Given the description of an element on the screen output the (x, y) to click on. 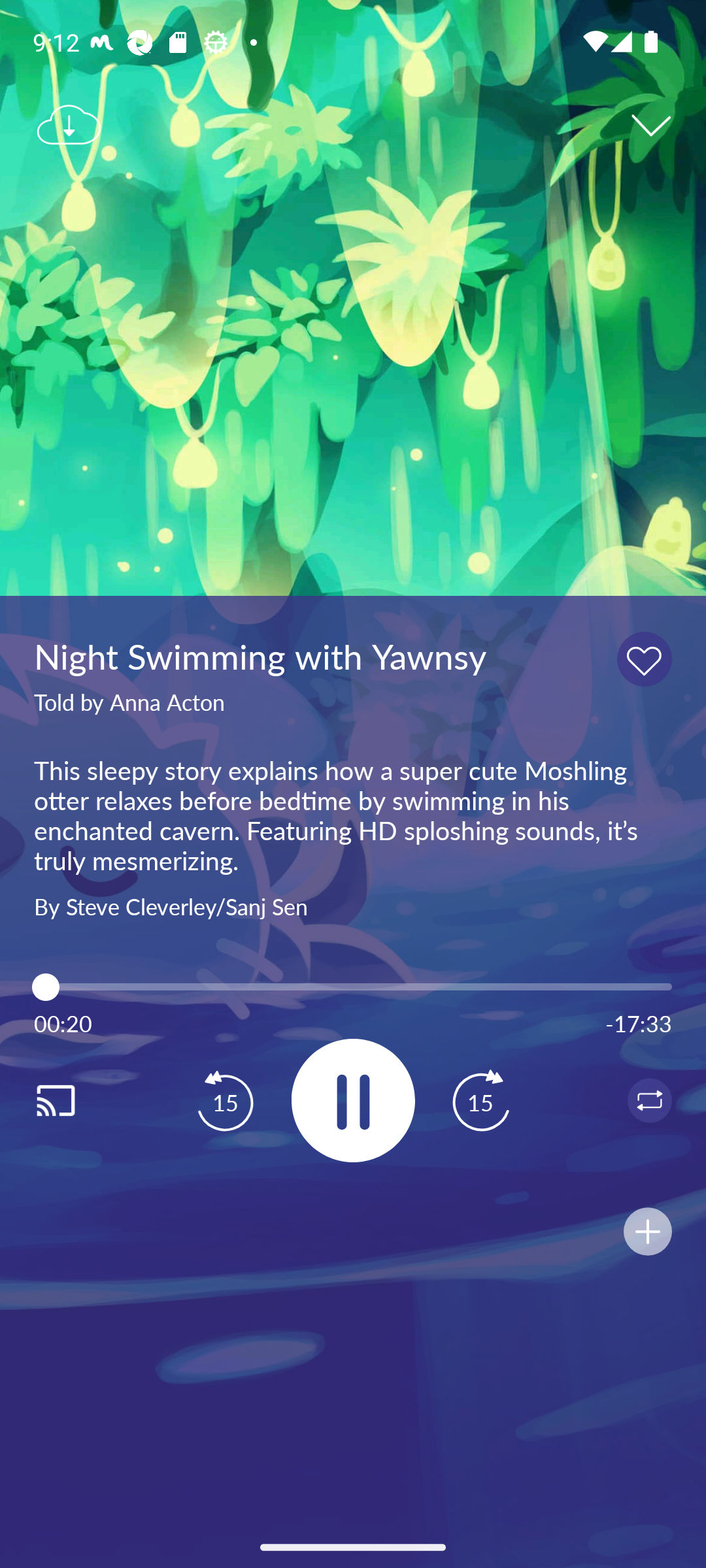
20.0 (352, 986)
Cast. Disconnected (76, 1100)
